Given the description of an element on the screen output the (x, y) to click on. 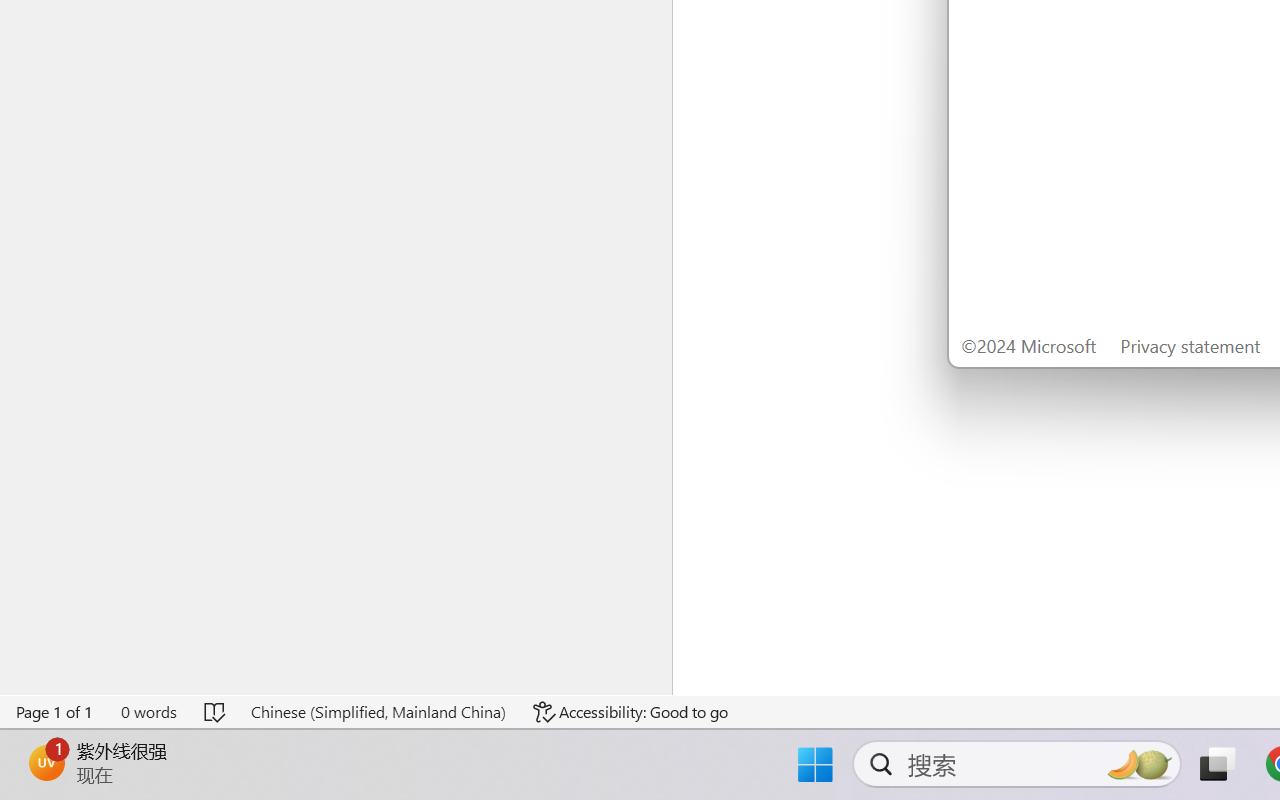
Language Chinese (Simplified, Mainland China) (378, 712)
